Given the description of an element on the screen output the (x, y) to click on. 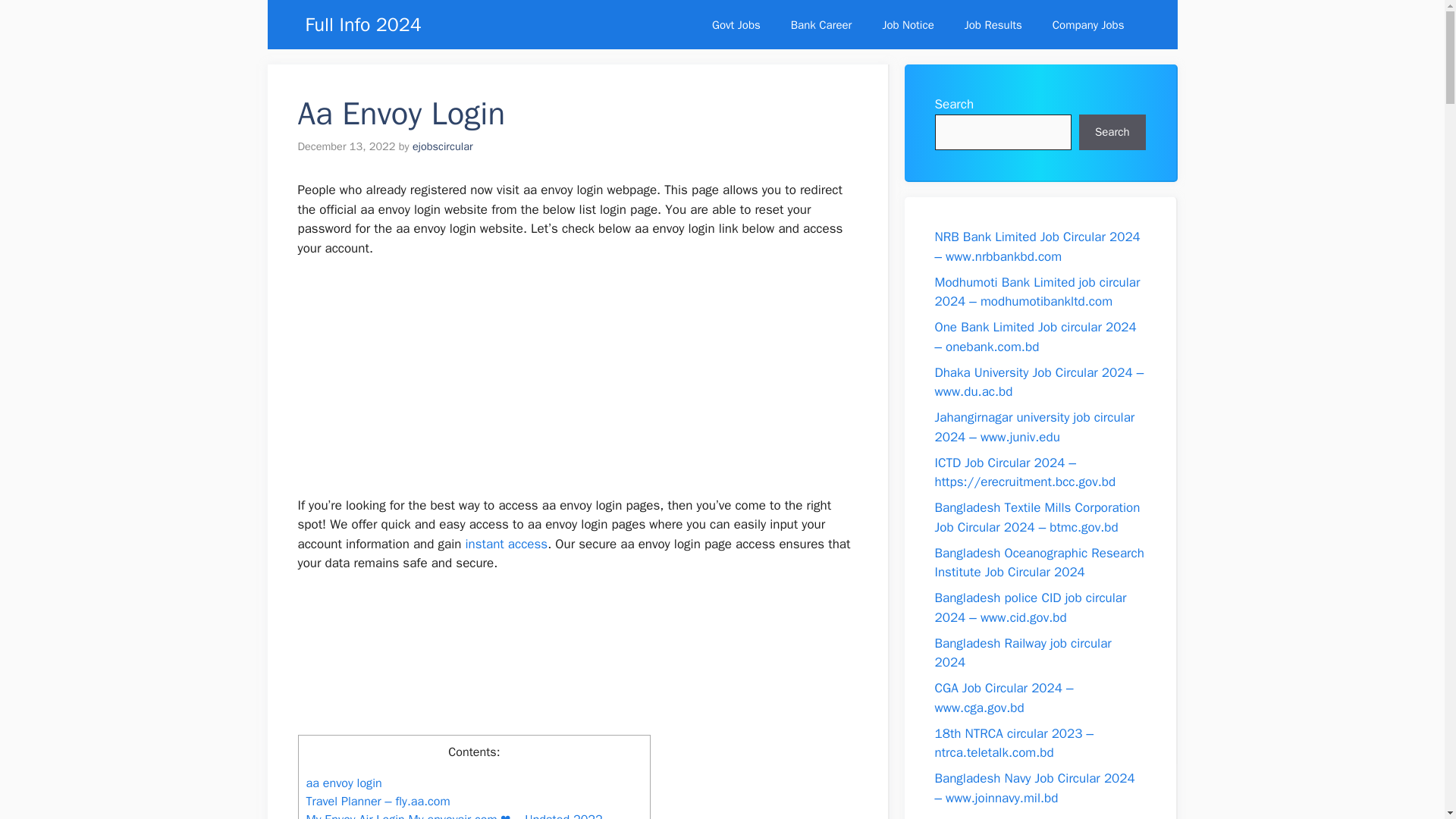
Job Notice (907, 23)
Company Jobs (1088, 23)
aa envoy login (343, 782)
ejobscircular (442, 146)
Job Results (992, 23)
Govt Jobs (736, 23)
Full Info 2024 (362, 24)
View all posts by ejobscircular (442, 146)
instant access (506, 544)
Advertisement (576, 660)
